Given the description of an element on the screen output the (x, y) to click on. 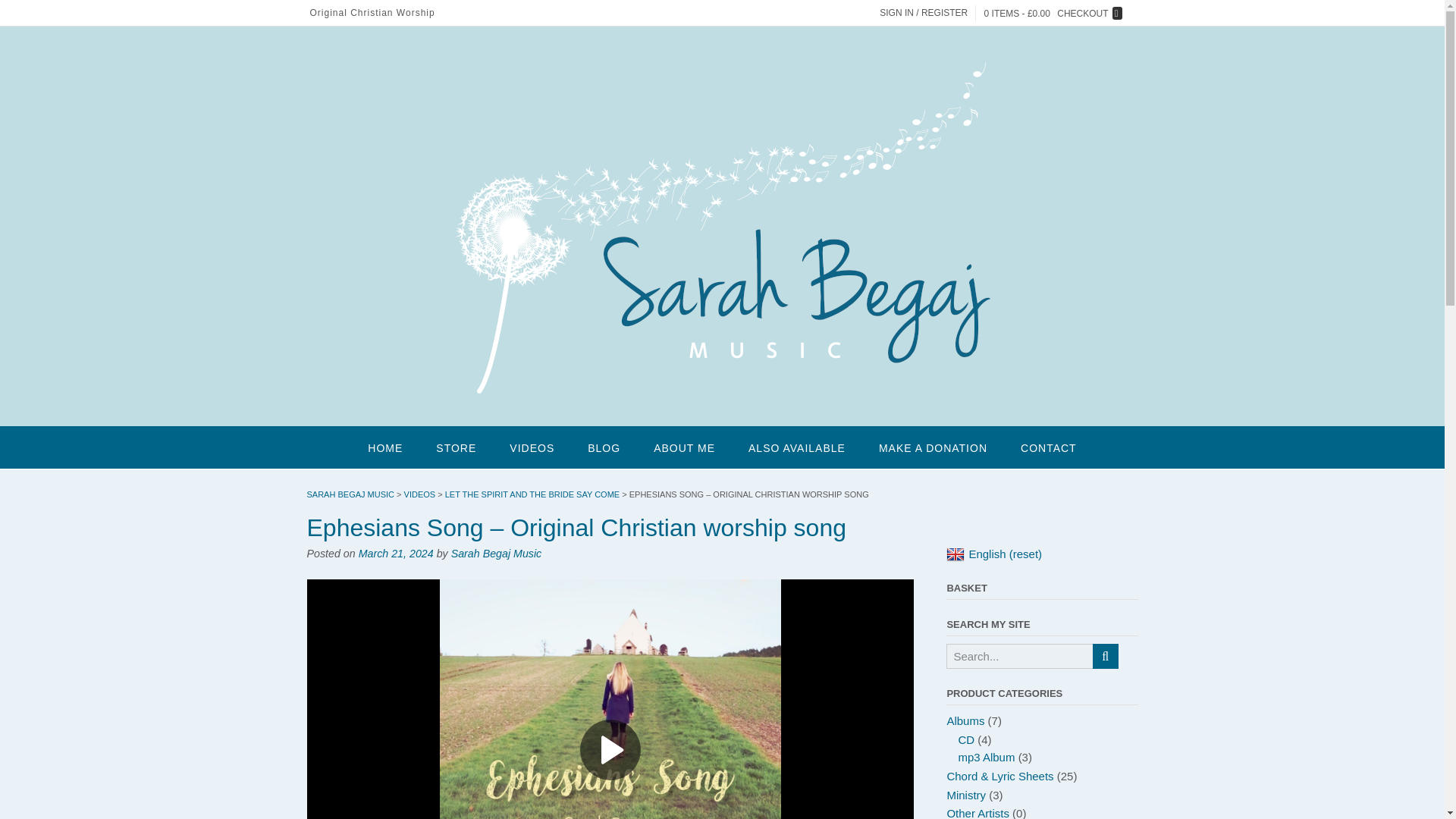
VIDEOS (531, 446)
HOME (384, 446)
SARAH BEGAJ MUSIC (349, 493)
March 21, 2024 (395, 553)
Go to Videos. (419, 493)
MAKE A DONATION (932, 446)
STORE (456, 446)
ABOUT ME (684, 446)
ALSO AVAILABLE (796, 446)
LET THE SPIRIT AND THE BRIDE SAY COME (532, 493)
